Given the description of an element on the screen output the (x, y) to click on. 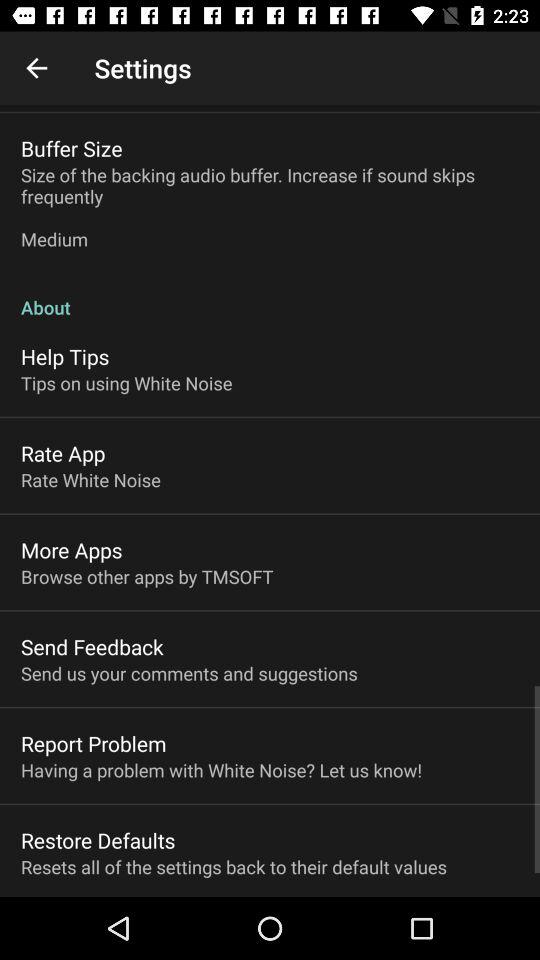
swipe to browse other apps item (147, 576)
